Given the description of an element on the screen output the (x, y) to click on. 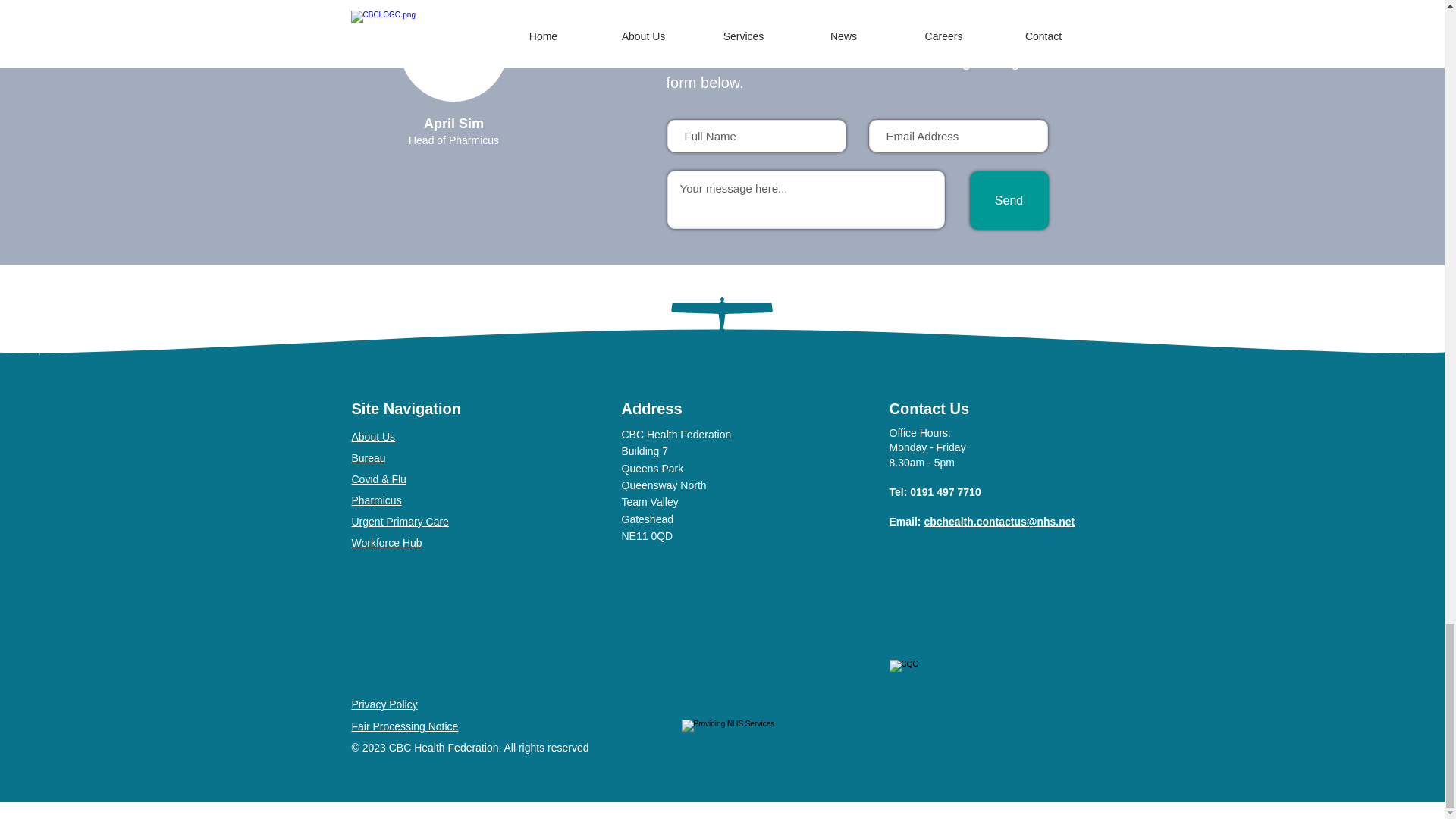
Send (1008, 200)
Urgent Primary Care (400, 521)
Pharmicus (376, 500)
Workforce Hub (387, 542)
Privacy Policy (384, 704)
Fair Processing Notice (405, 726)
Bureau (368, 458)
About Us (374, 436)
